Given the description of an element on the screen output the (x, y) to click on. 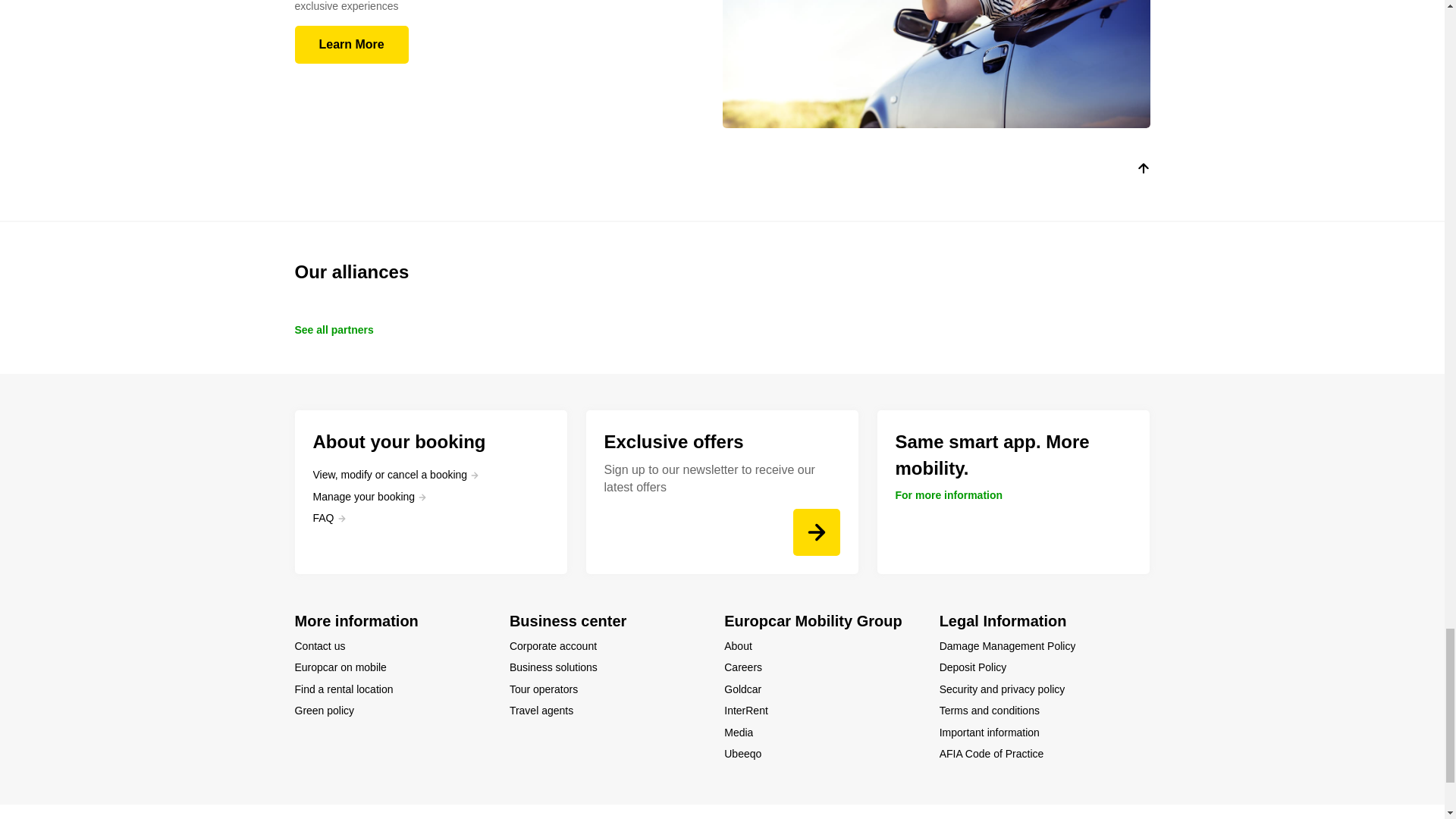
Our alliances (722, 271)
top (1142, 170)
Manage your booking (369, 496)
View, modify or cancel a booking (396, 474)
FAQ (329, 517)
See all partners (333, 329)
Learn More (350, 44)
